Given the description of an element on the screen output the (x, y) to click on. 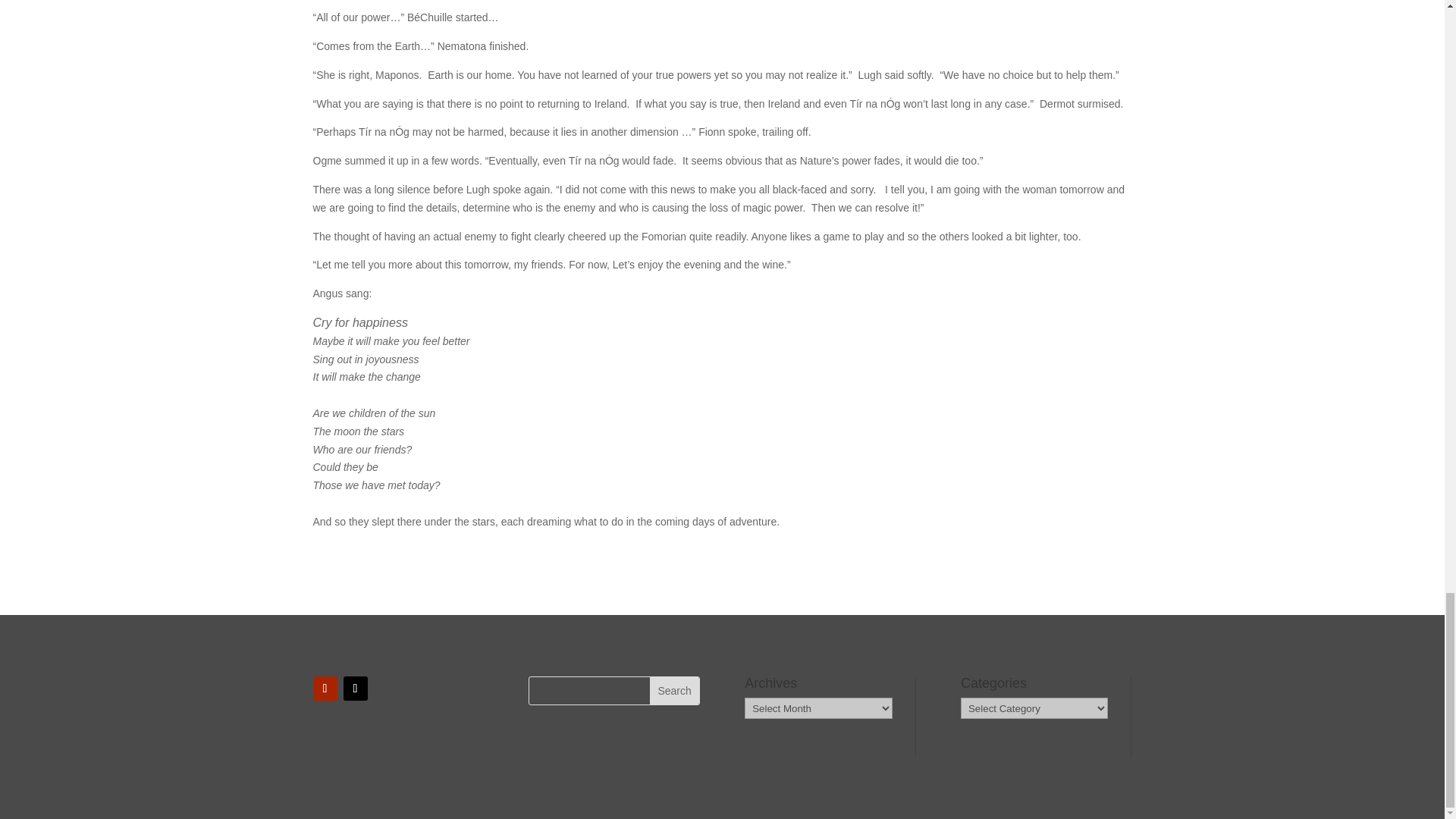
Search (673, 690)
Search (673, 690)
Follow on Youtube (324, 688)
Search (673, 690)
Follow on X (354, 688)
